Given the description of an element on the screen output the (x, y) to click on. 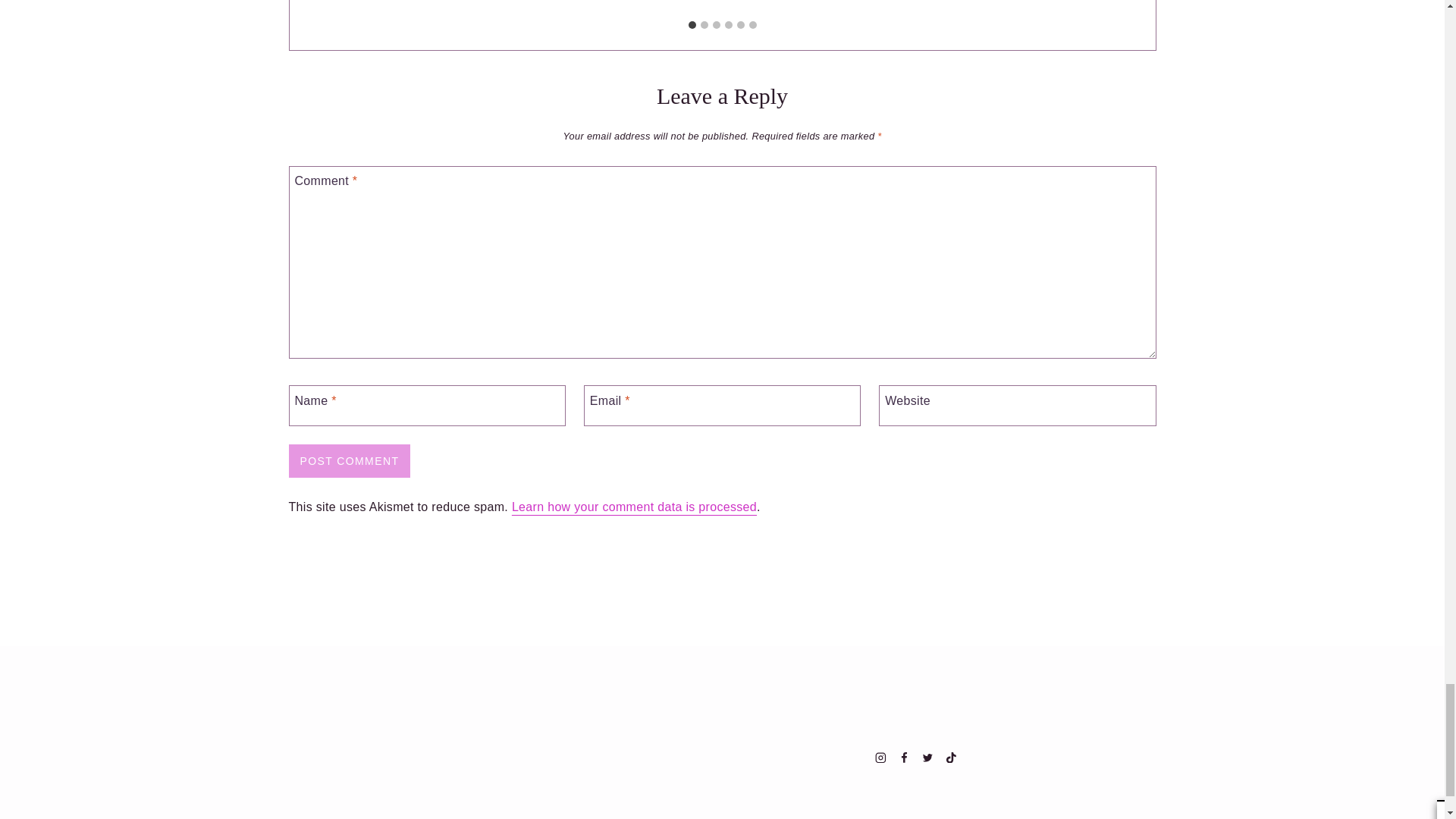
Post Comment (349, 460)
